Given the description of an element on the screen output the (x, y) to click on. 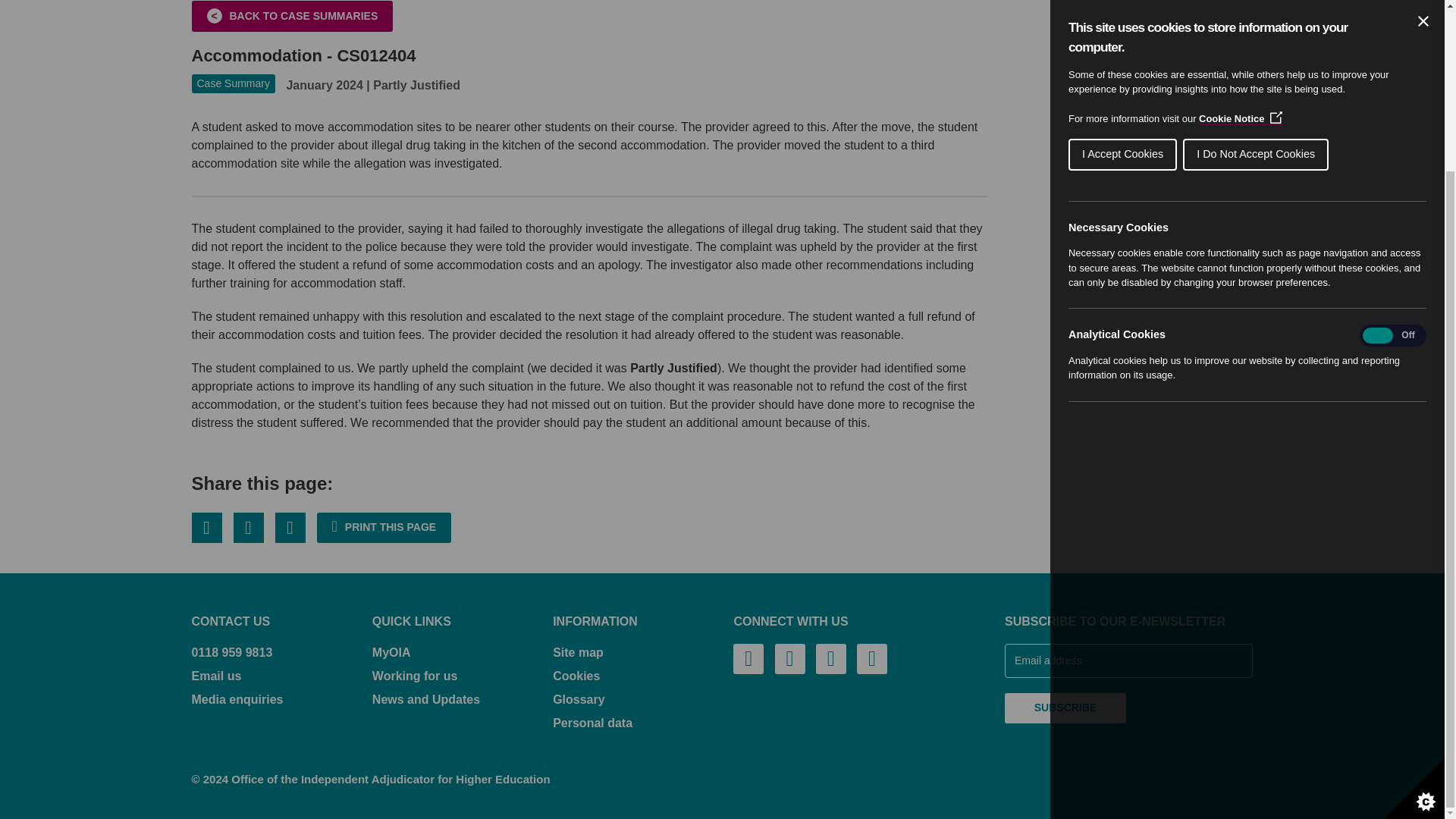
Share on Twitter (205, 527)
Vimeo (830, 658)
Share on Facebook (247, 527)
Instagram (871, 658)
Twitter (747, 658)
LinkedIn (789, 658)
Share on LinkedIn (289, 527)
Subscribe (1064, 707)
